Given the description of an element on the screen output the (x, y) to click on. 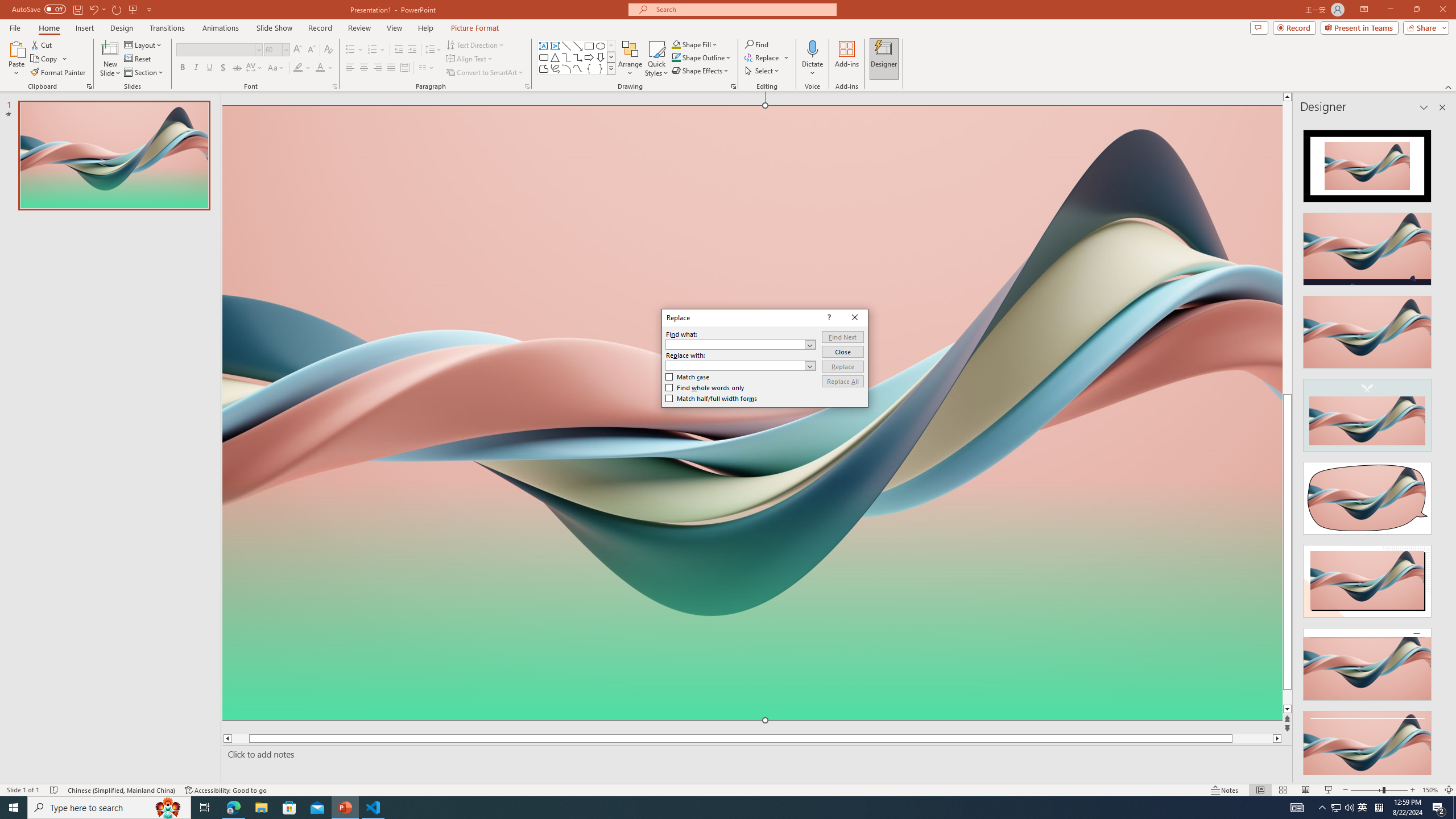
Find what (735, 343)
